Given the description of an element on the screen output the (x, y) to click on. 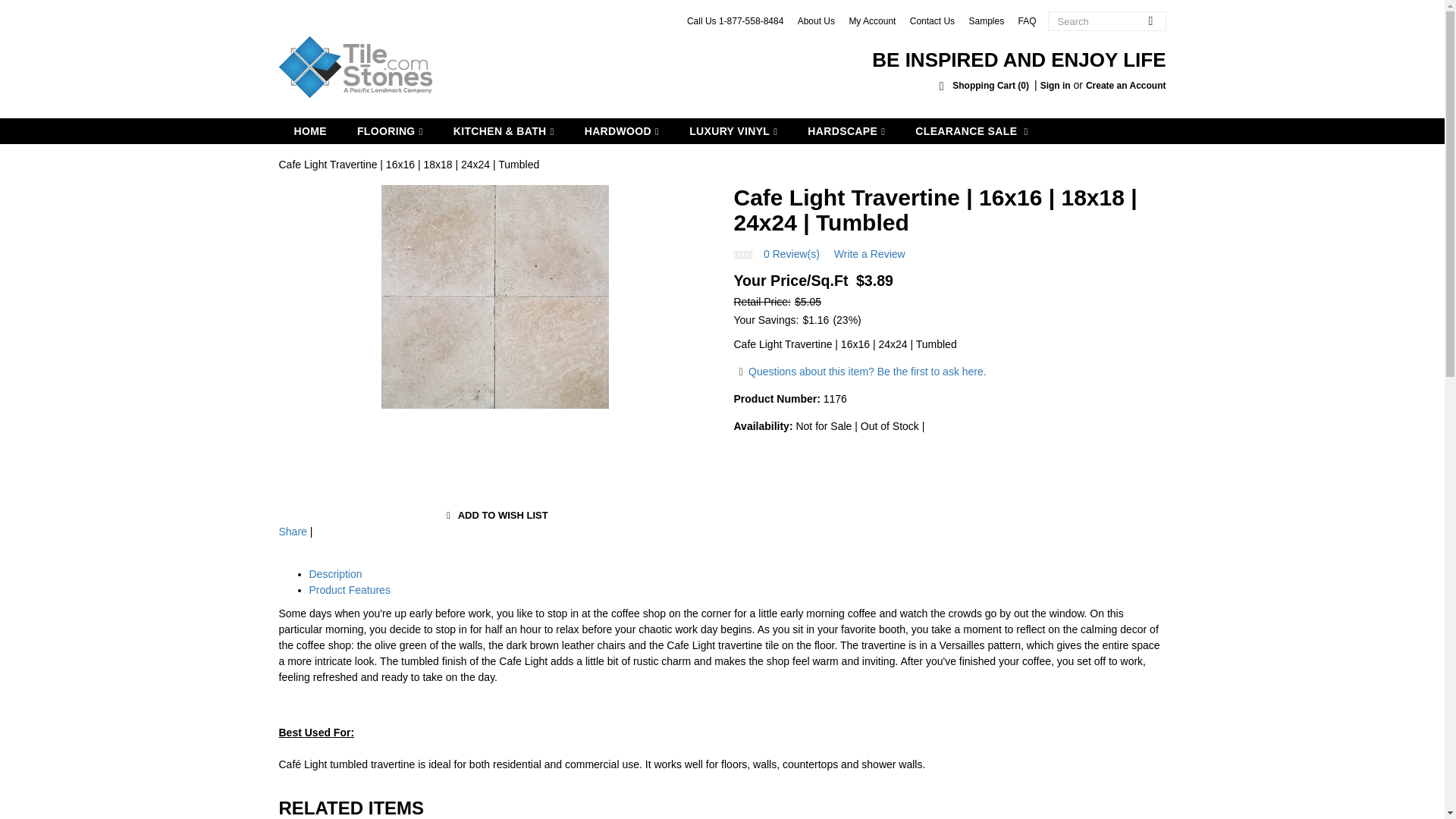
About Us (815, 20)
My Account (871, 20)
FLOORING (390, 130)
Contact Us (932, 20)
HARDWOOD (621, 130)
Sign in (1055, 85)
Samples (986, 20)
Create an Account (1126, 85)
1-877-558-8484 (751, 20)
HOME (310, 130)
FAQ (1026, 20)
